Given the description of an element on the screen output the (x, y) to click on. 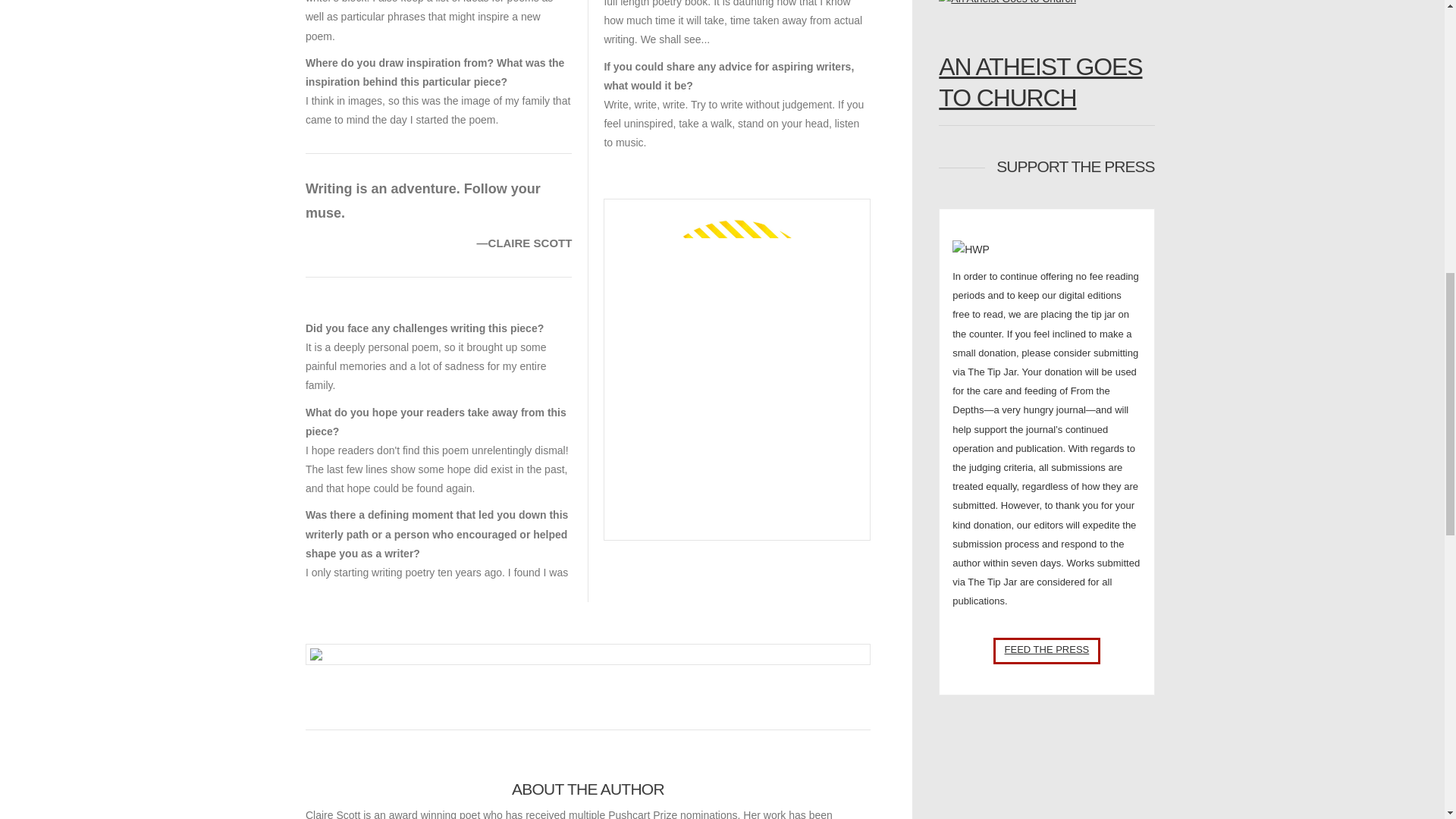
AN ATHEIST GOES TO CHURCH (1046, 82)
SUBMIT (1046, 651)
FEED THE PRESS (1046, 651)
